Given the description of an element on the screen output the (x, y) to click on. 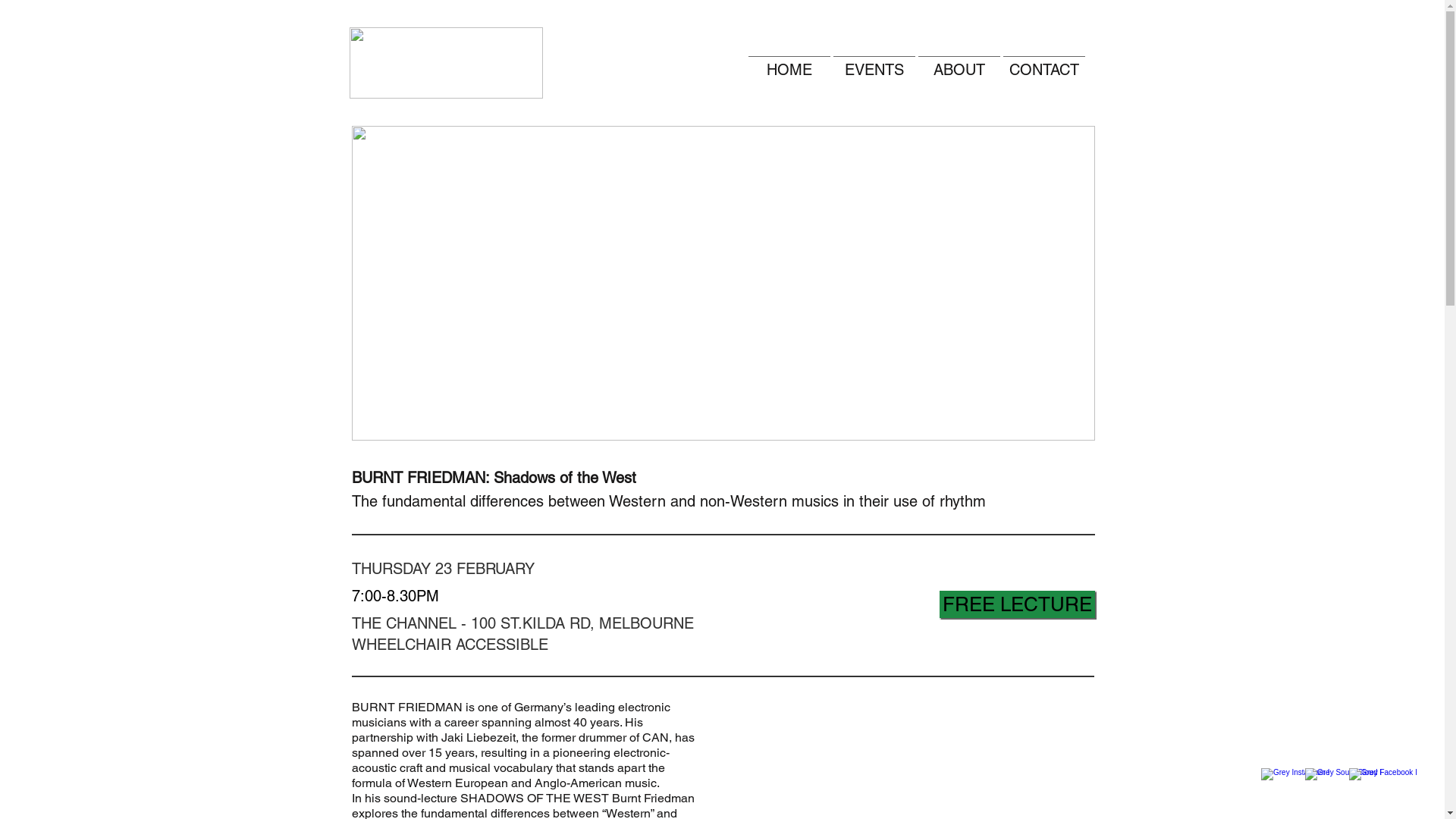
ABOUT Element type: text (958, 62)
ONO_LOGO-03.png Element type: hover (445, 62)
CONTACT Element type: text (1043, 62)
HOME Element type: text (788, 62)
FREE LECTURE Element type: text (1016, 604)
EVENTS Element type: text (873, 62)
